Given the description of an element on the screen output the (x, y) to click on. 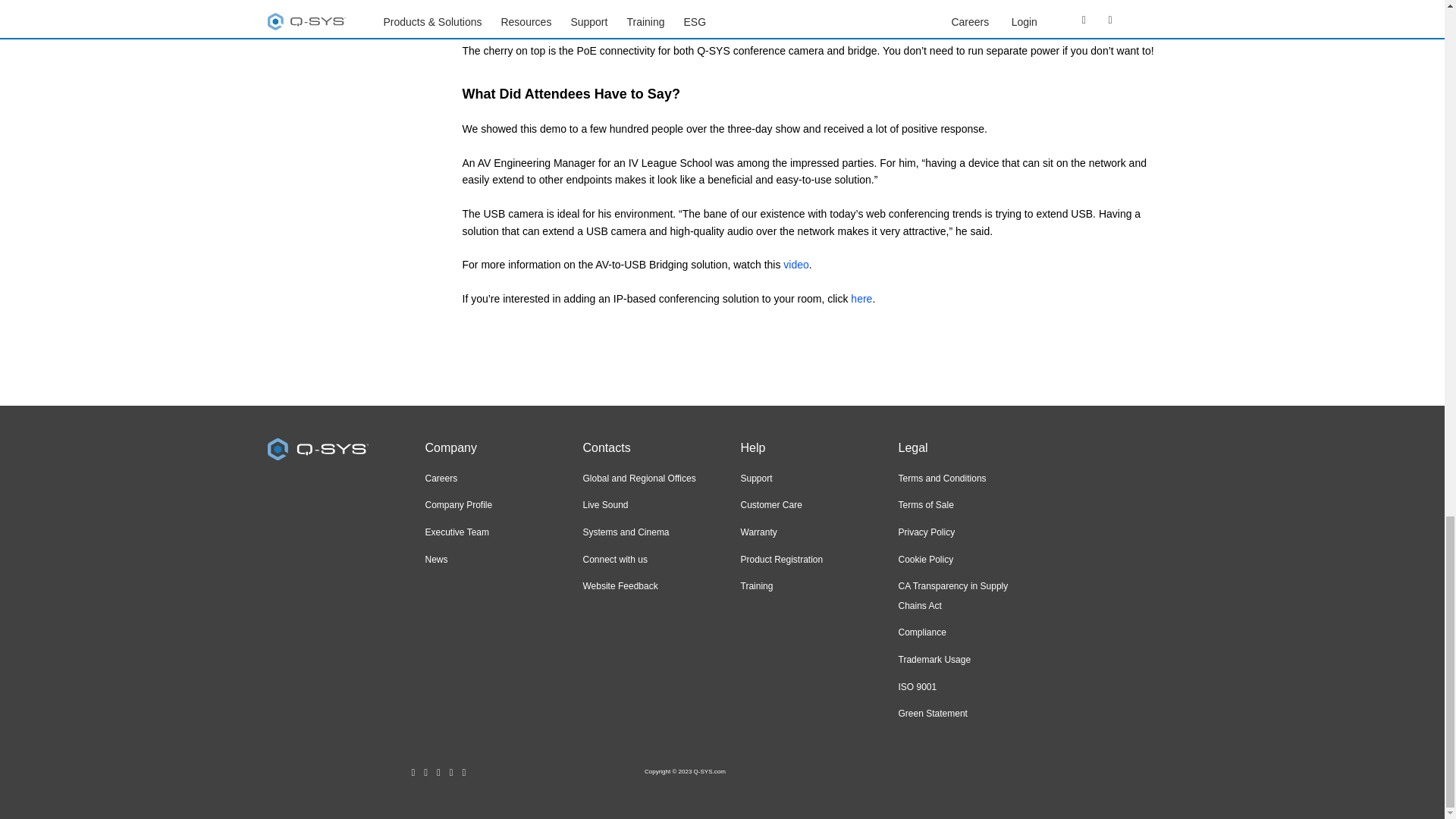
Q-SYS logo (317, 449)
